Given the description of an element on the screen output the (x, y) to click on. 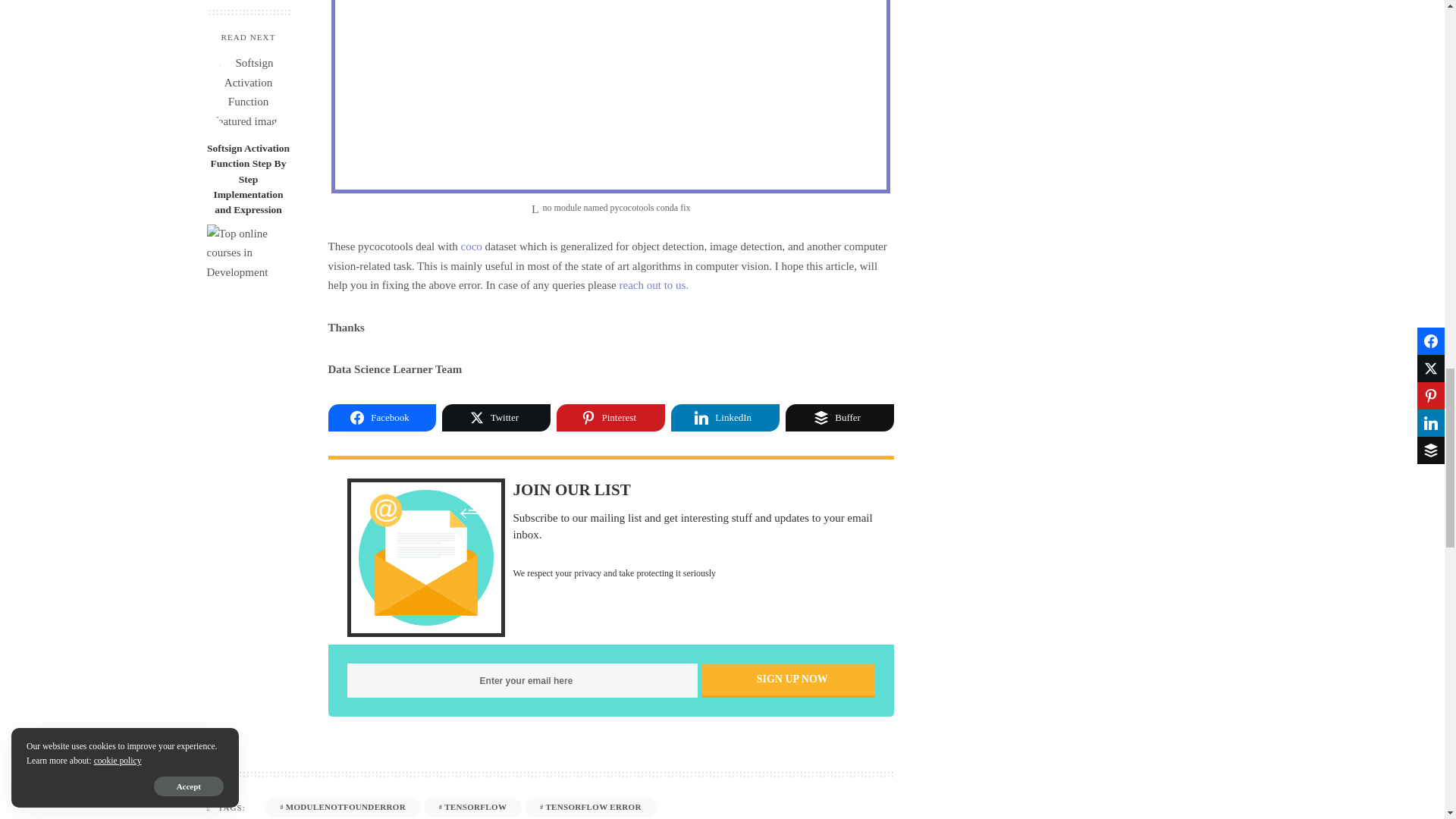
Sign Up Now (788, 680)
tensorflow error (590, 807)
modulenotfounderror (342, 807)
Share on LinkedIn (724, 417)
Share on Facebook (381, 417)
Share on Buffer (839, 417)
Share on Pinterest (610, 417)
tensorflow (472, 807)
Share on Twitter (496, 417)
